Given the description of an element on the screen output the (x, y) to click on. 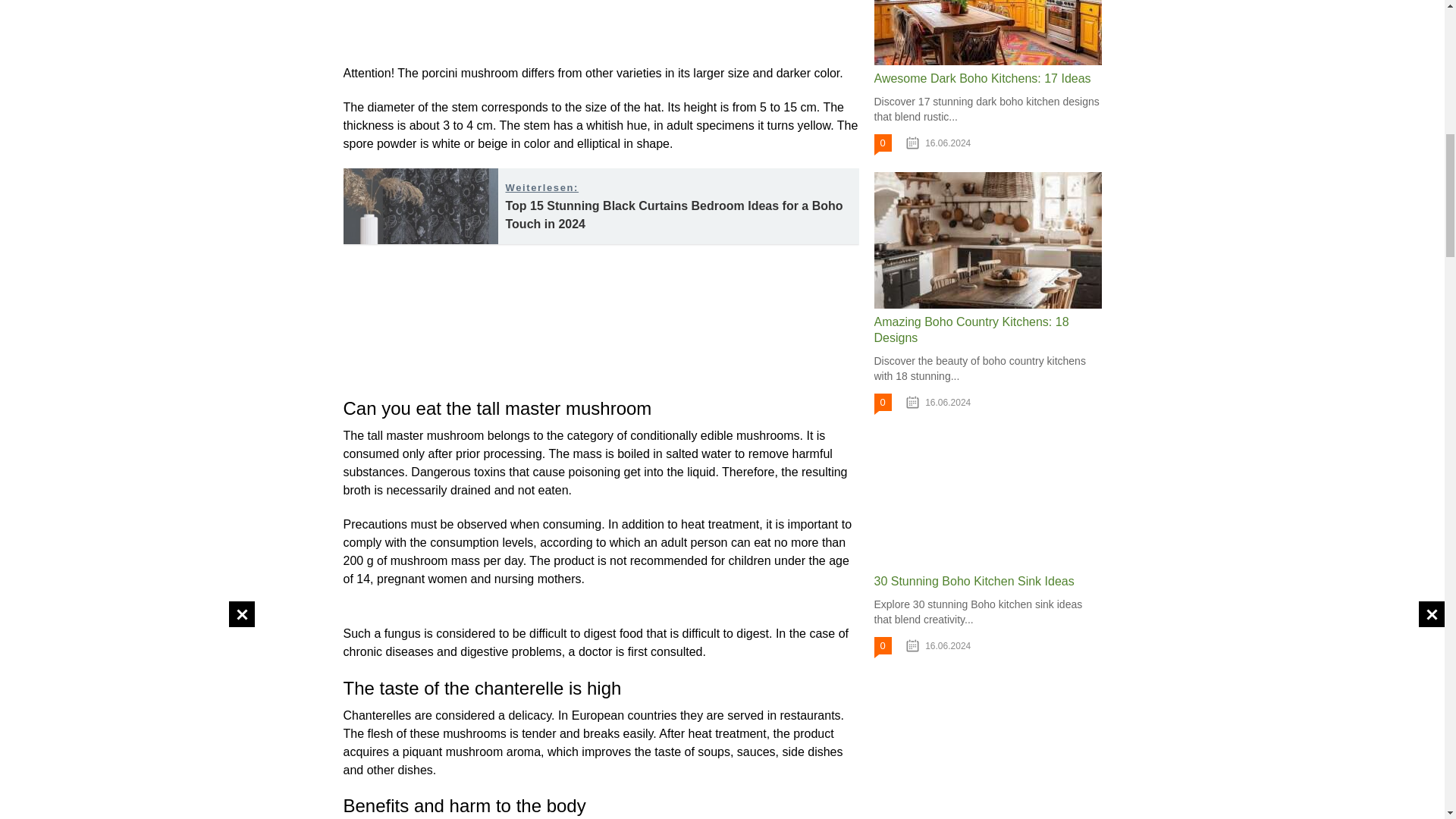
Advertisement (470, 29)
Advertisement (731, 29)
